Given the description of an element on the screen output the (x, y) to click on. 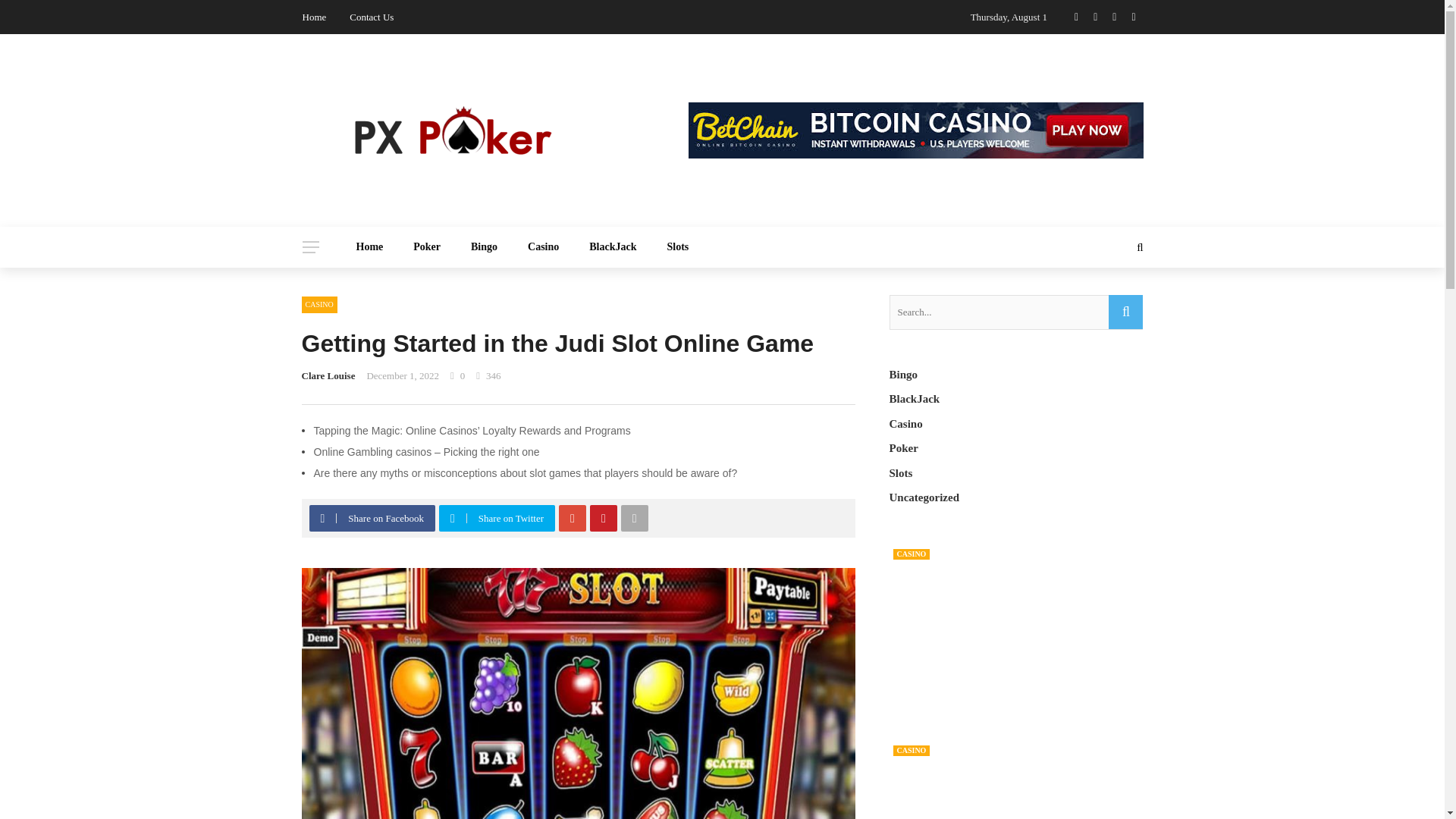
Share on Facebook (373, 518)
Contact Us (371, 16)
BlackJack (611, 246)
Share on Twitter (499, 518)
Casino (542, 246)
Home (313, 16)
Poker (426, 246)
Home (369, 246)
Bingo (483, 246)
